Given the description of an element on the screen output the (x, y) to click on. 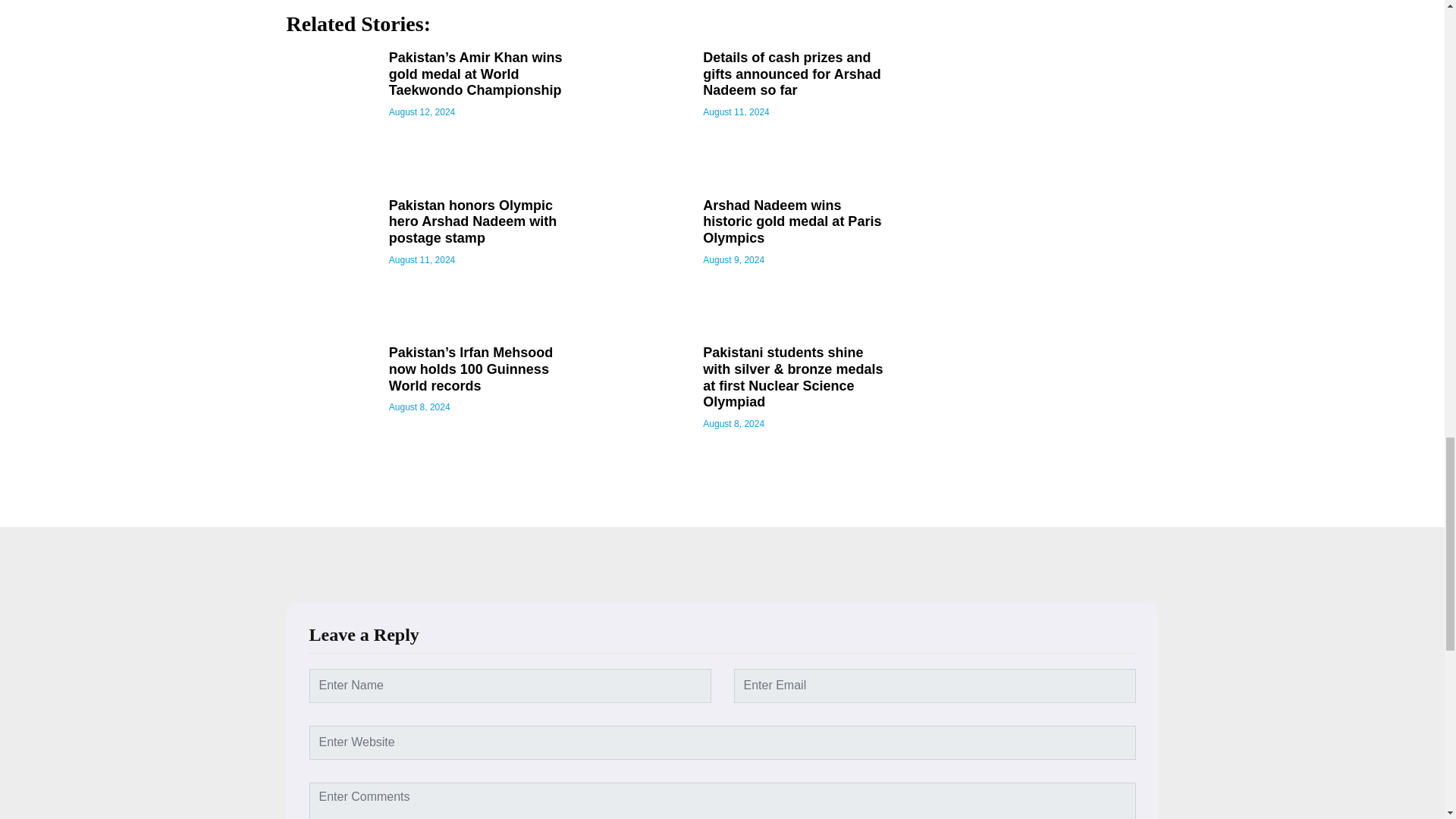
Arshad Nadeem wins historic gold medal at Paris Olympics (797, 222)
